Given the description of an element on the screen output the (x, y) to click on. 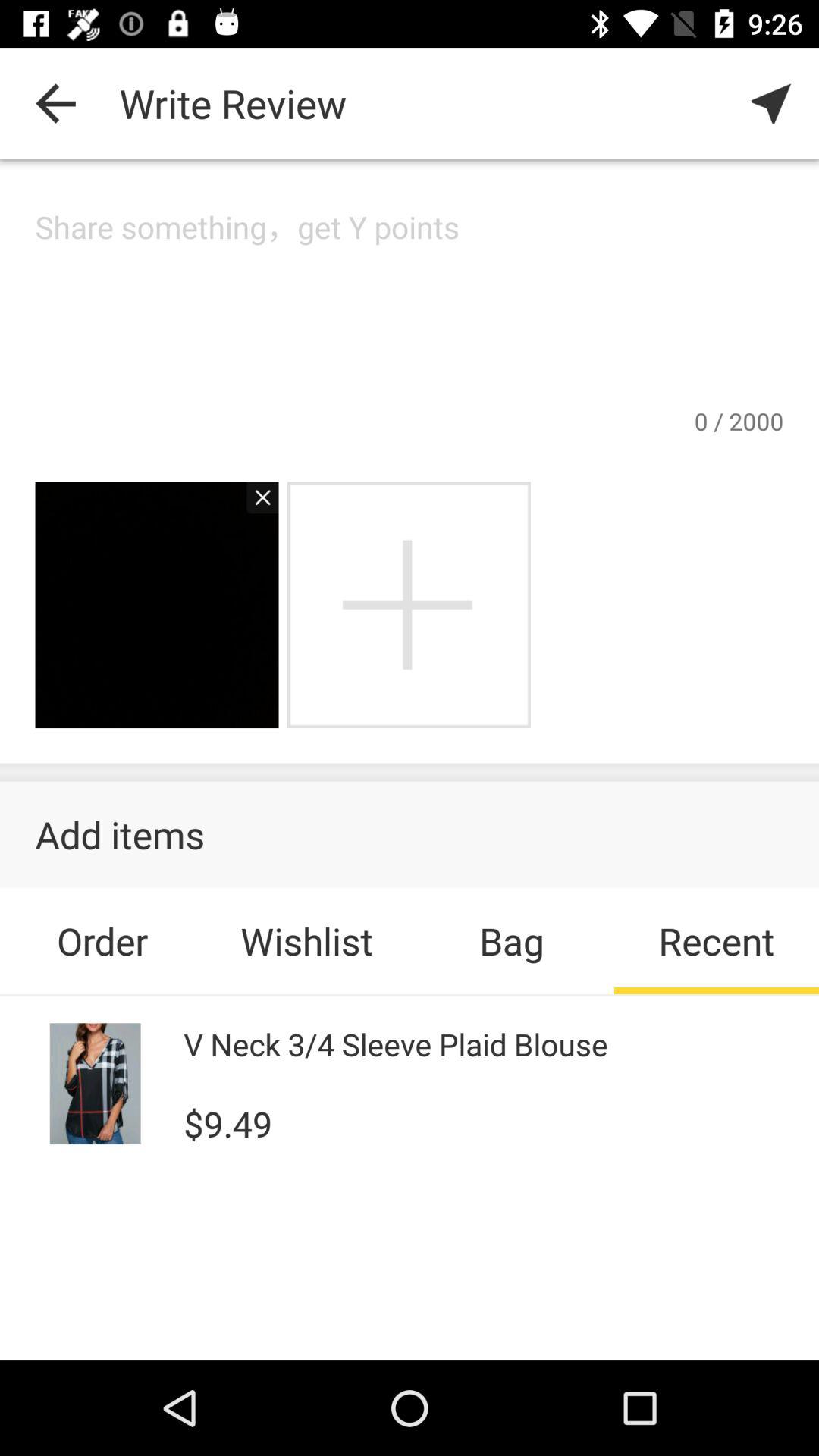
type text (409, 304)
